Given the description of an element on the screen output the (x, y) to click on. 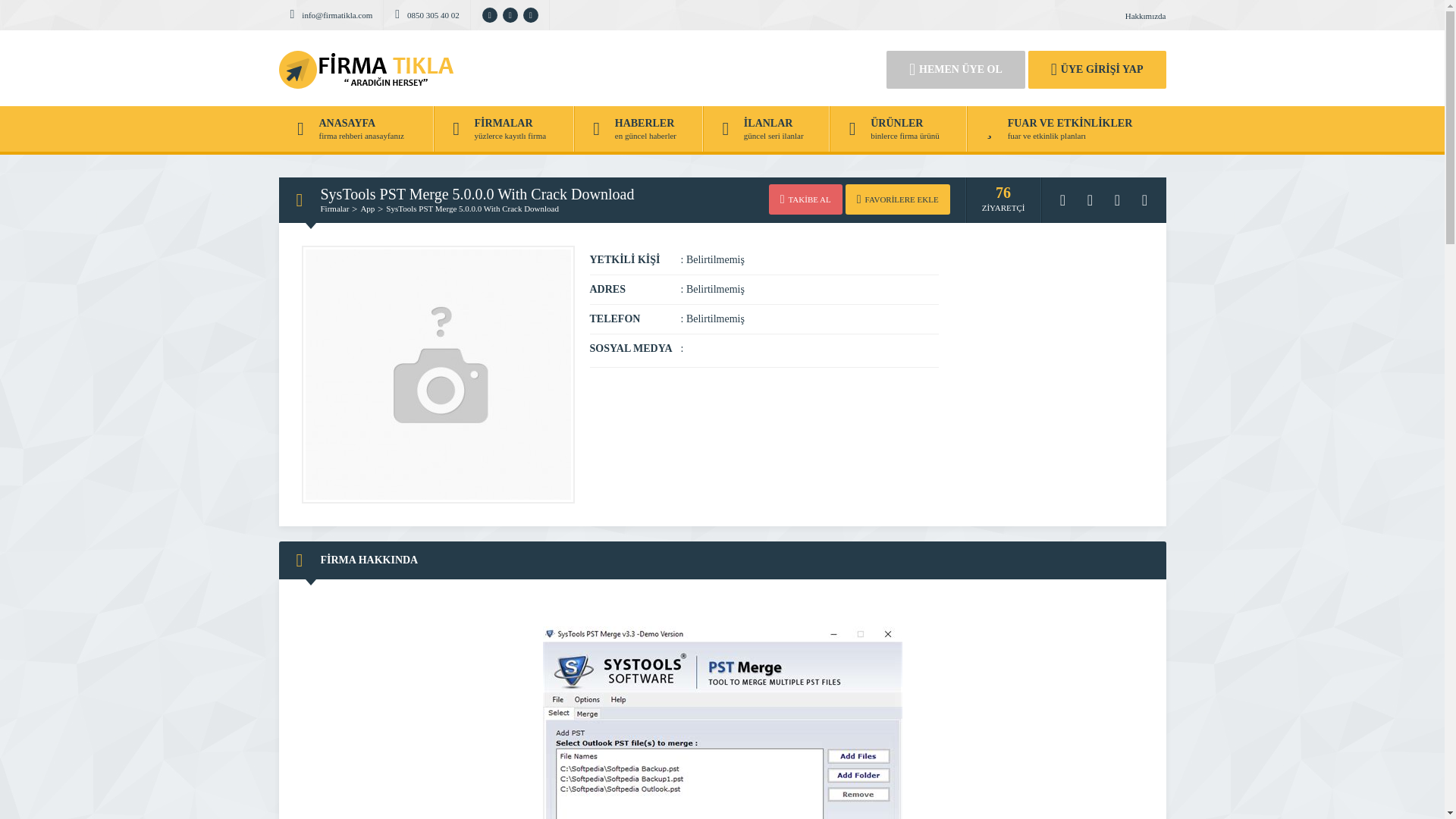
App (366, 207)
Firmalar (334, 207)
SysTools PST Merge 5.0.0.0 With Crack Download (472, 207)
